Given the description of an element on the screen output the (x, y) to click on. 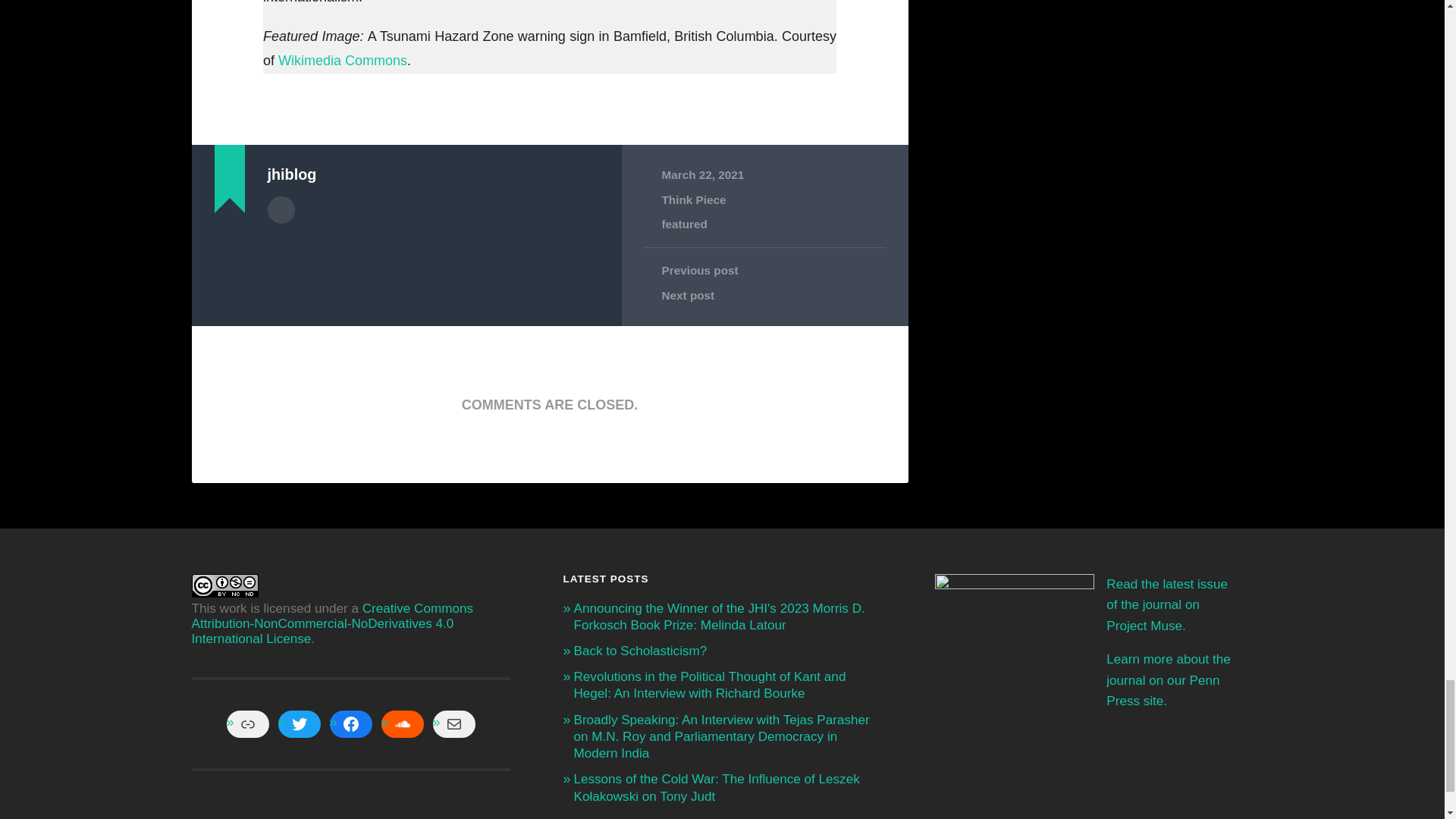
Back to Scholasticism? (639, 650)
Author archive (280, 209)
